Given the description of an element on the screen output the (x, y) to click on. 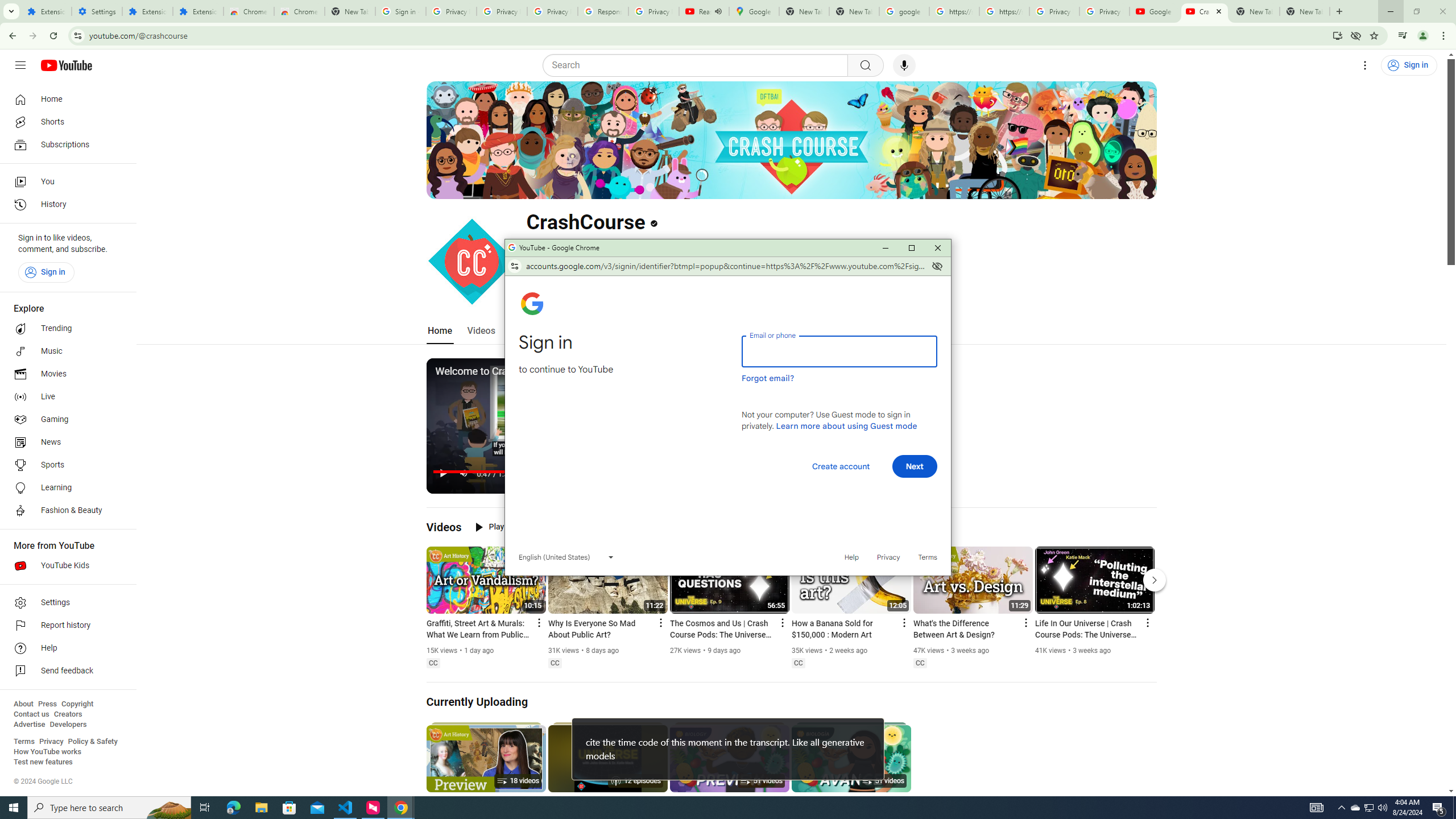
Gaming (64, 419)
Q2790: 100% (1382, 807)
Creators (67, 714)
Mute (m) (463, 472)
